Given the description of an element on the screen output the (x, y) to click on. 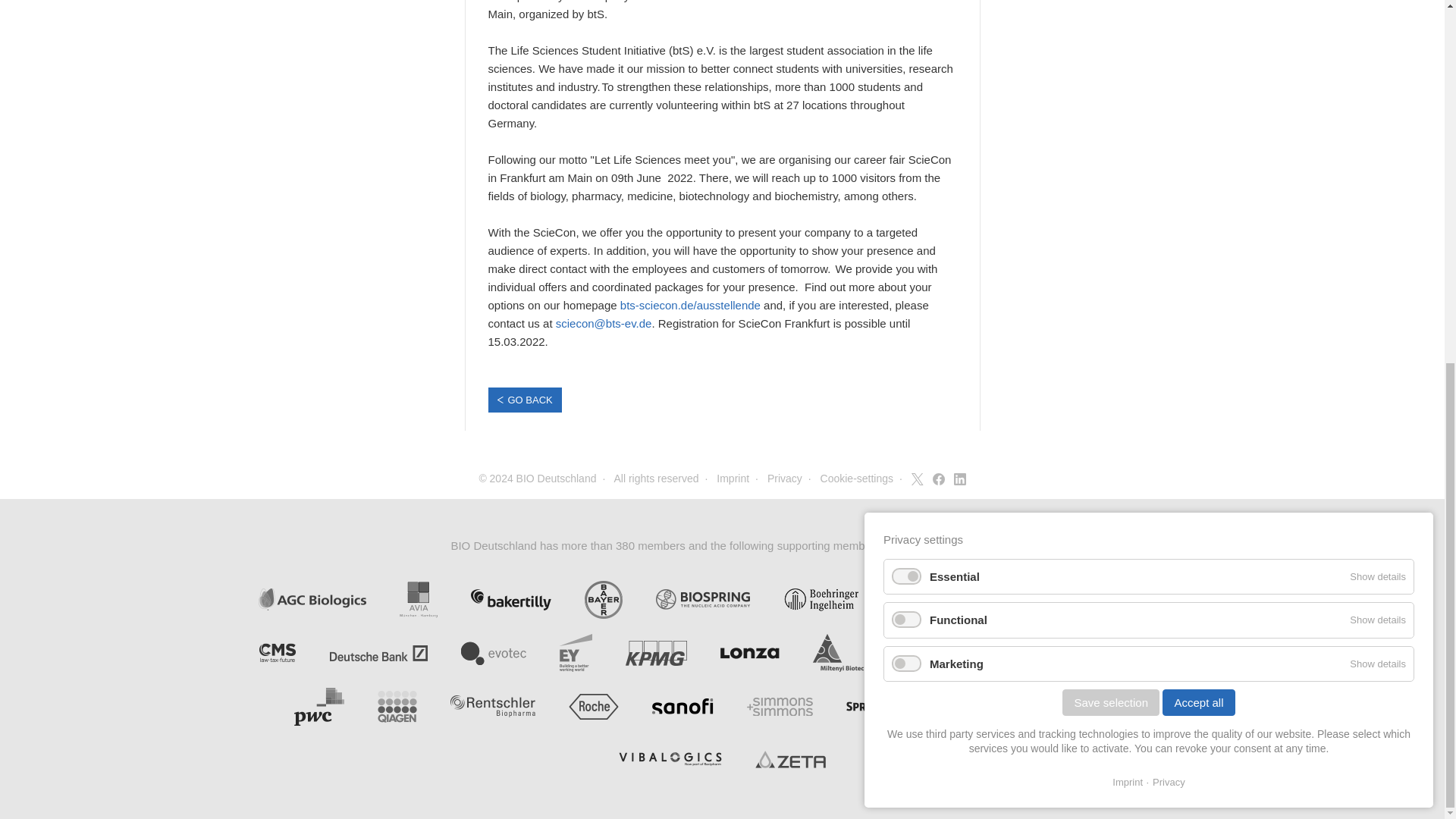
Go back (524, 399)
GO BACK (524, 399)
